Given the description of an element on the screen output the (x, y) to click on. 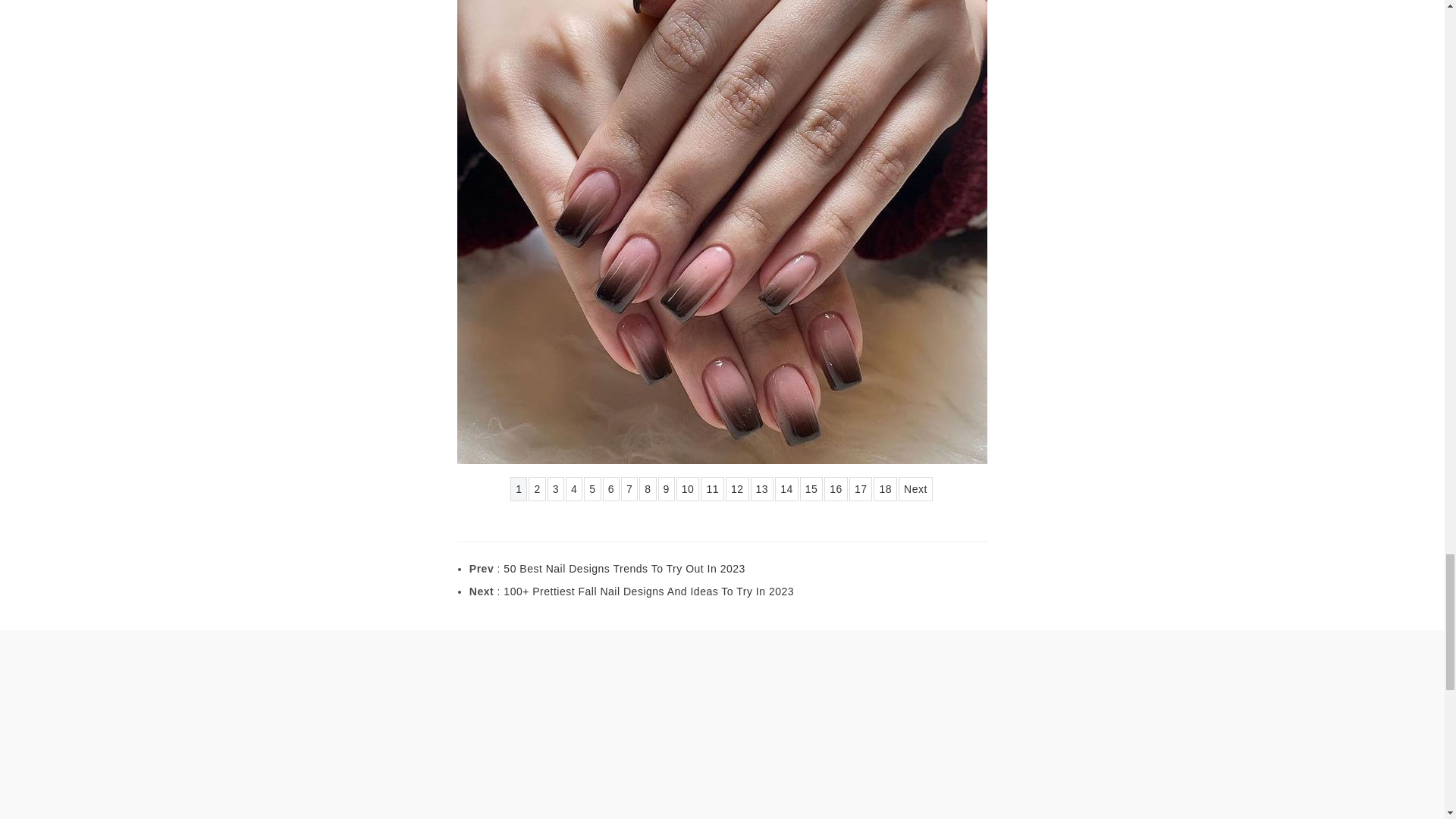
15 (811, 488)
50 Best Nail Designs Trends To Try Out In 2023 (623, 568)
50 Best Nail Designs Trends To Try Out In 2023 (623, 568)
11 (711, 488)
14 (785, 488)
17 (860, 488)
16 (835, 488)
12 (737, 488)
18 (884, 488)
10 (688, 488)
